Given the description of an element on the screen output the (x, y) to click on. 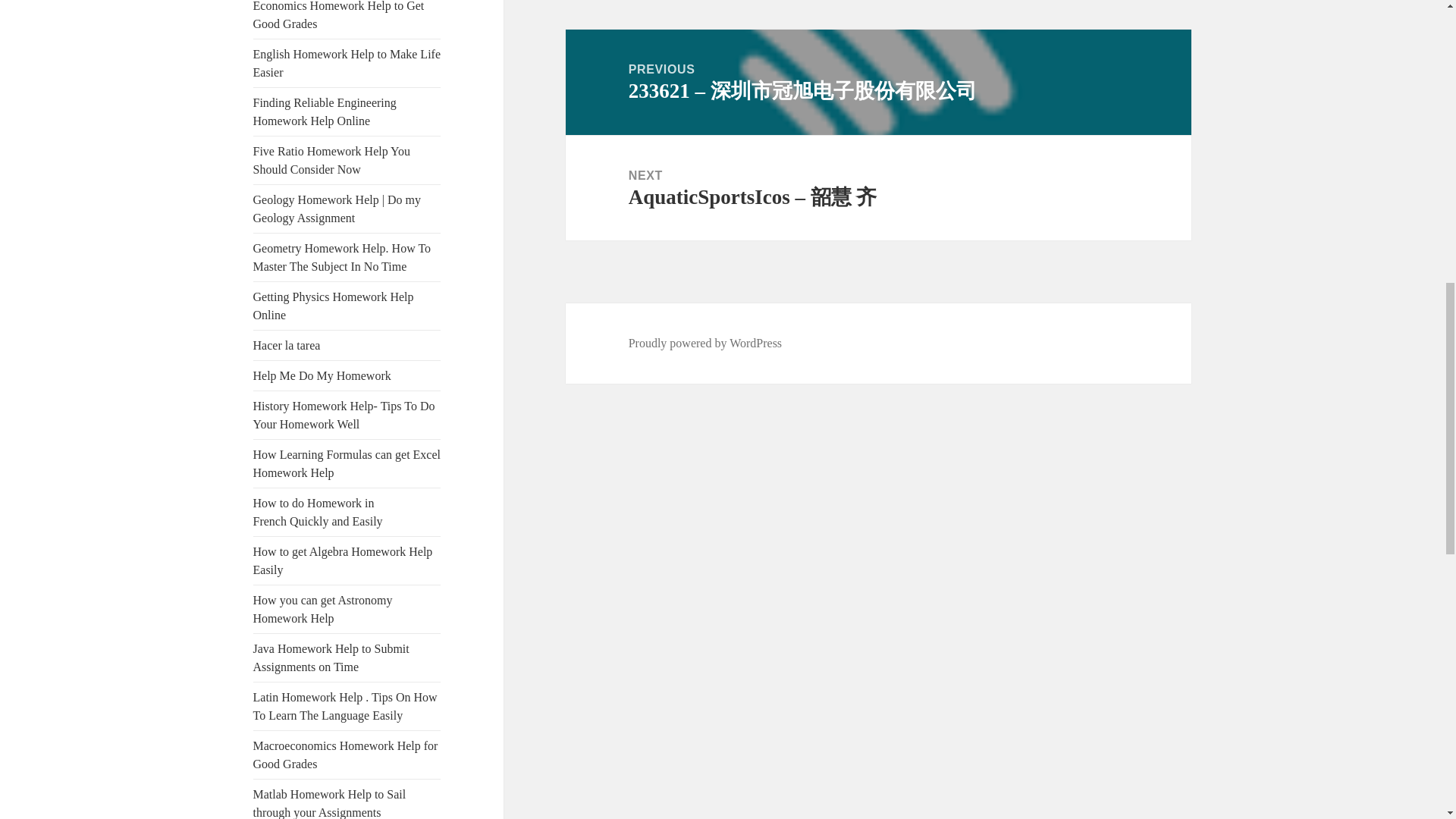
How to get Algebra Homework Help Easily (342, 560)
Help Me Do My Homework (322, 375)
Five Ratio Homework Help You Should Consider Now (331, 160)
How you can get Astronomy Homework Help (323, 608)
Geometry Homework Help. How To Master The Subject In No Time (341, 256)
Matlab Homework Help to Sail through your Assignments (329, 803)
Finding Reliable Engineering Homework Help Online (324, 111)
How Learning Formulas can get Excel Homework Help (347, 463)
Macroeconomics Homework Help for Good Grades (345, 754)
English Homework Help to Make Life Easier (347, 62)
Java Homework Help to Submit Assignments on Time (331, 657)
Getting Physics Homework Help Online (333, 305)
Hacer la tarea (286, 345)
History Homework Help- Tips To Do Your Homework Well (344, 414)
